Given the description of an element on the screen output the (x, y) to click on. 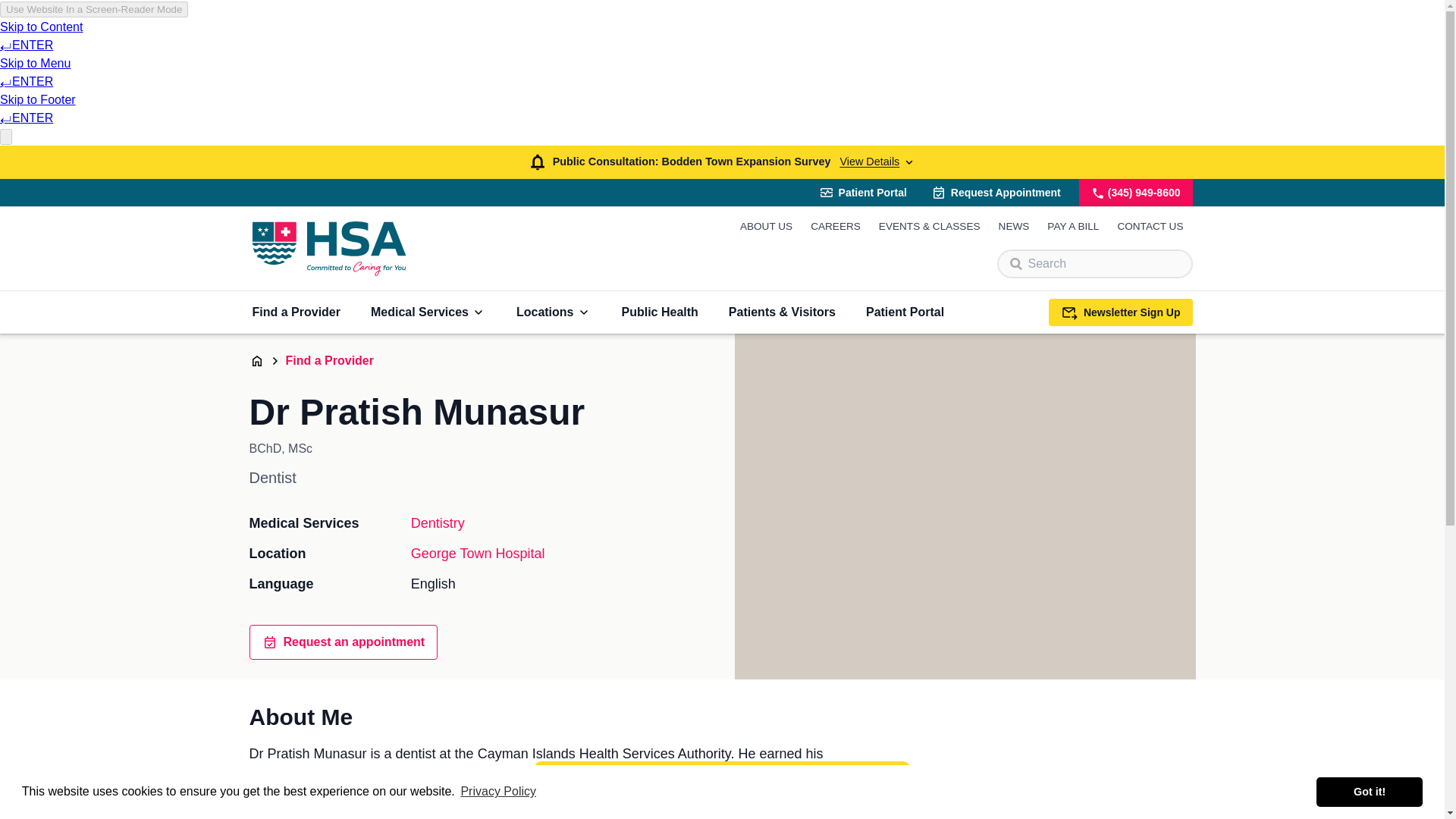
Locations (553, 312)
Medical Services (428, 312)
CAREERS (835, 225)
PAY A BILL (1072, 225)
Got it! (1369, 791)
Patient Portal (862, 192)
Privacy Policy (498, 791)
ABOUT US (765, 225)
Find a Provider (295, 312)
Request Appointment (995, 192)
NEWS (1013, 225)
CONTACT US (1149, 225)
